Given the description of an element on the screen output the (x, y) to click on. 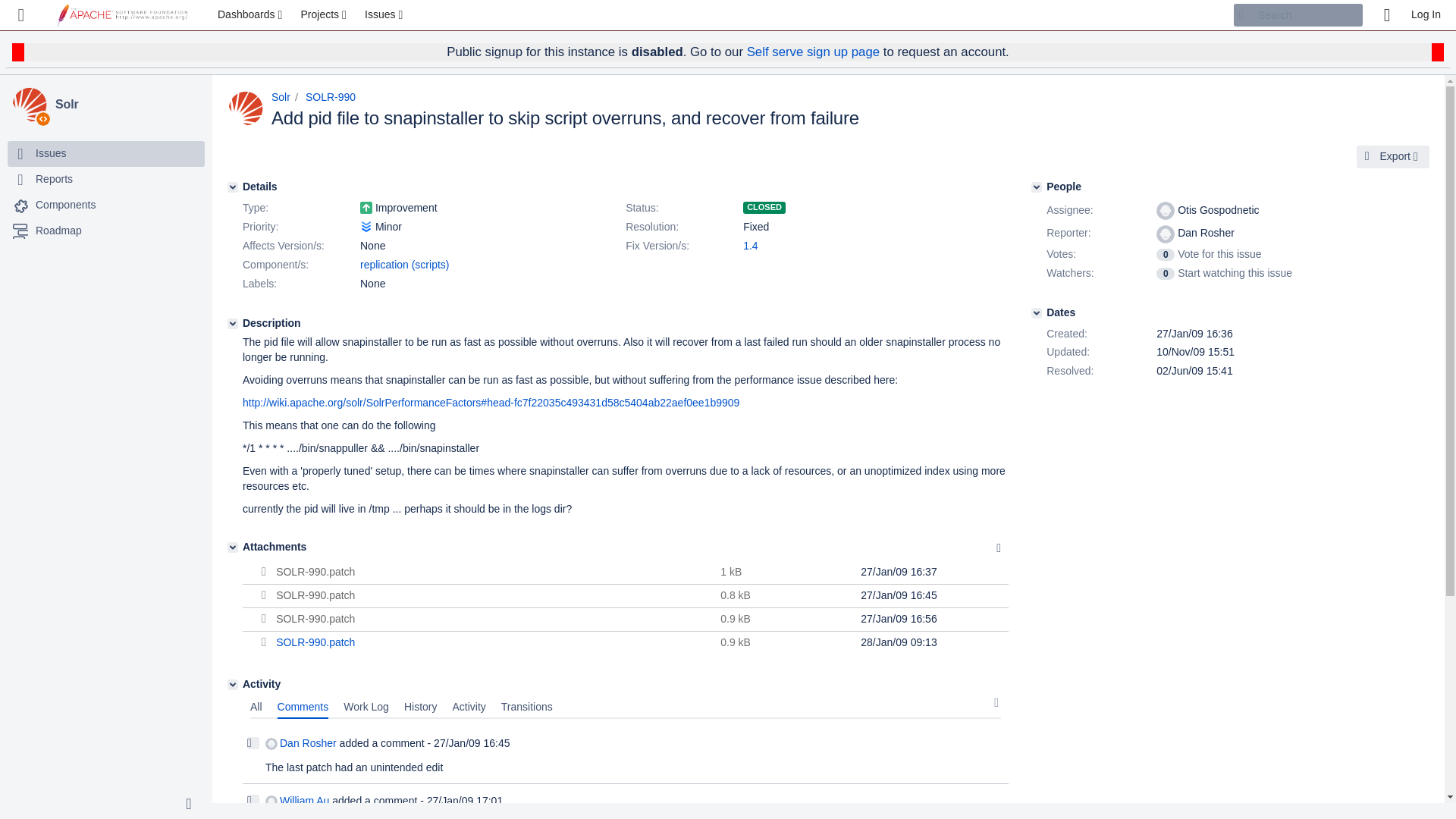
SOLR-990 (330, 96)
Issues (384, 15)
Type (299, 208)
1.4 (749, 245)
Log In (1425, 15)
Roadmap (57, 231)
Linked Applications (20, 15)
Options (998, 547)
Self serve sign up page (812, 51)
Solr (127, 104)
Components (106, 205)
Solr (127, 104)
Search for issues and view recent issues (384, 15)
Projects (324, 15)
View and manage your dashboards (251, 15)
